Given the description of an element on the screen output the (x, y) to click on. 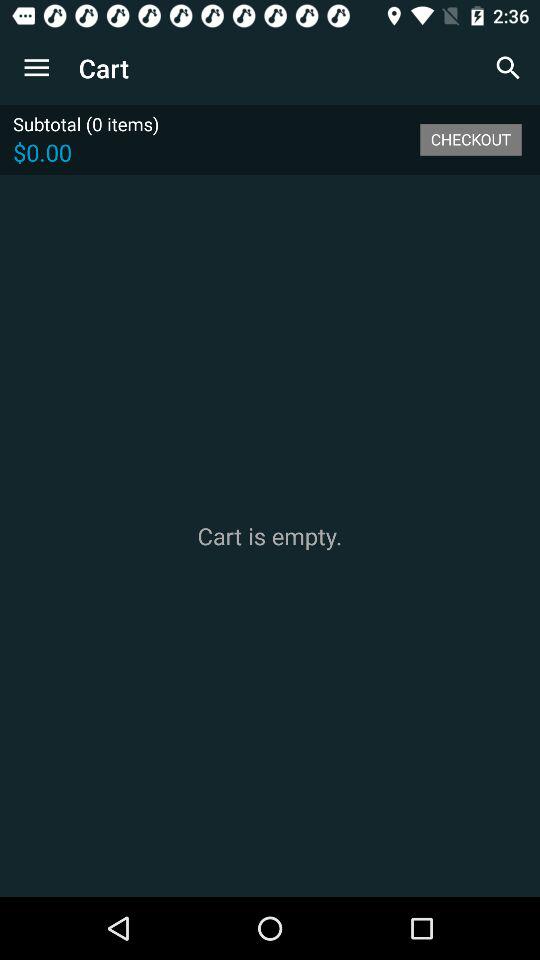
click the item to the right of the cart (508, 67)
